Given the description of an element on the screen output the (x, y) to click on. 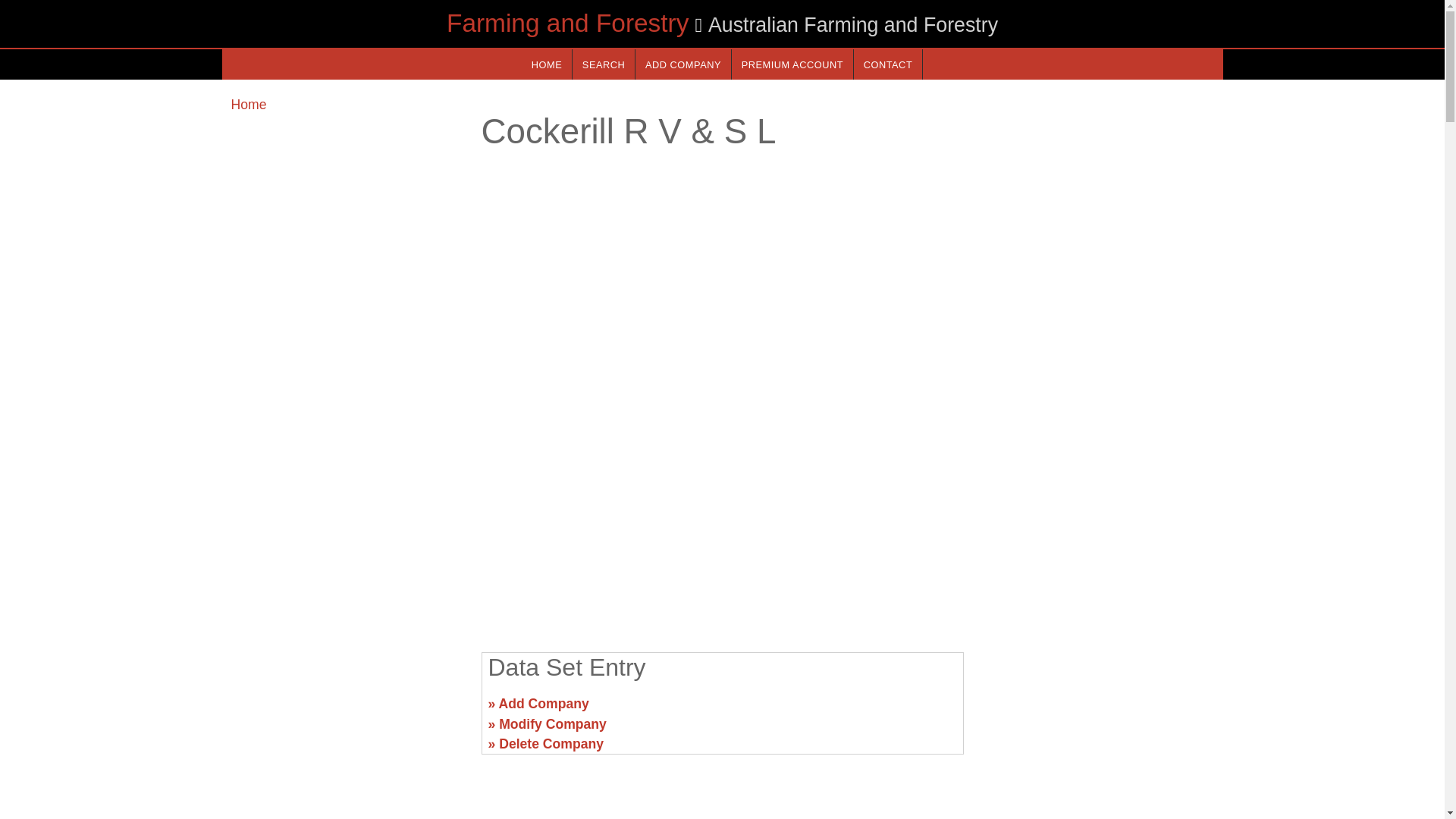
Premium account (792, 64)
Home (248, 104)
HOME (546, 64)
Advertisement (721, 522)
CONTACT (887, 64)
Farming and Forestry (567, 22)
PREMIUM ACCOUNT (792, 64)
SEARCH (603, 64)
Advertisement (346, 710)
Search in this webseite. (603, 64)
Add a new company (682, 64)
ADD COMPANY (682, 64)
Advertisement (1096, 710)
